Given the description of an element on the screen output the (x, y) to click on. 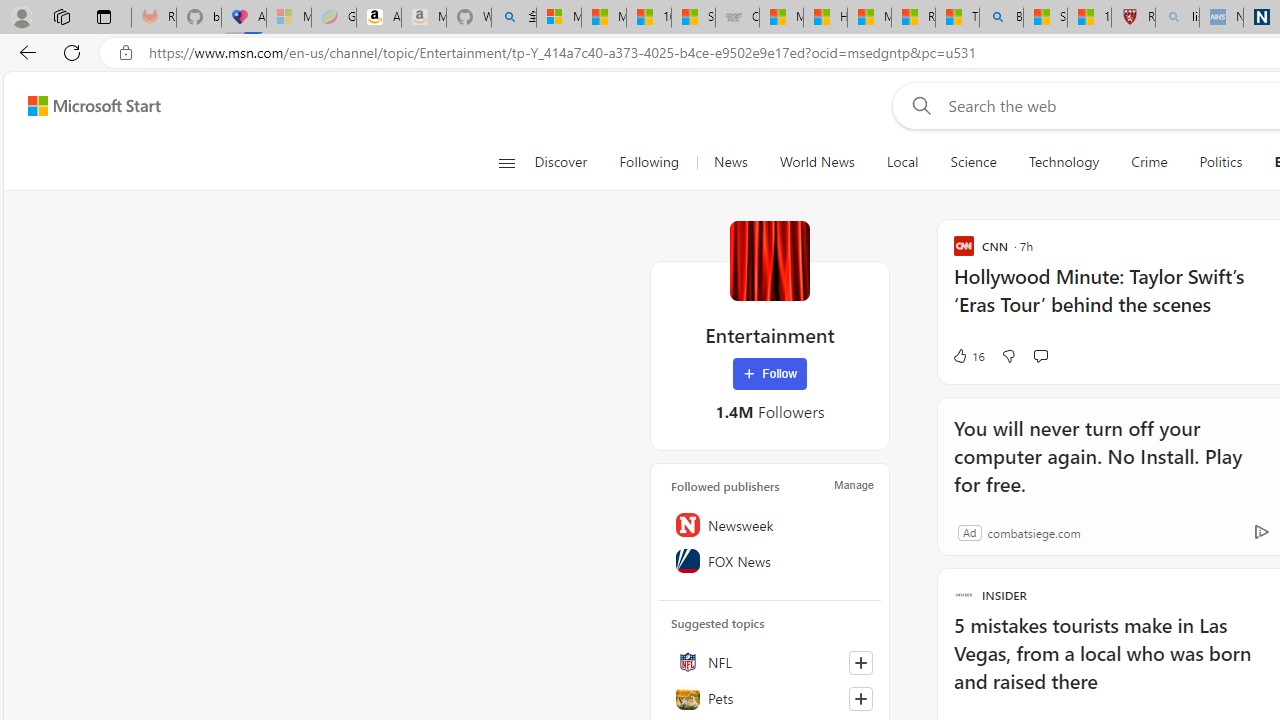
FOX News (770, 561)
Open navigation menu (506, 162)
Skip to footer (82, 105)
Recipes - MSN (913, 17)
Politics (1220, 162)
Local (902, 162)
